Given the description of an element on the screen output the (x, y) to click on. 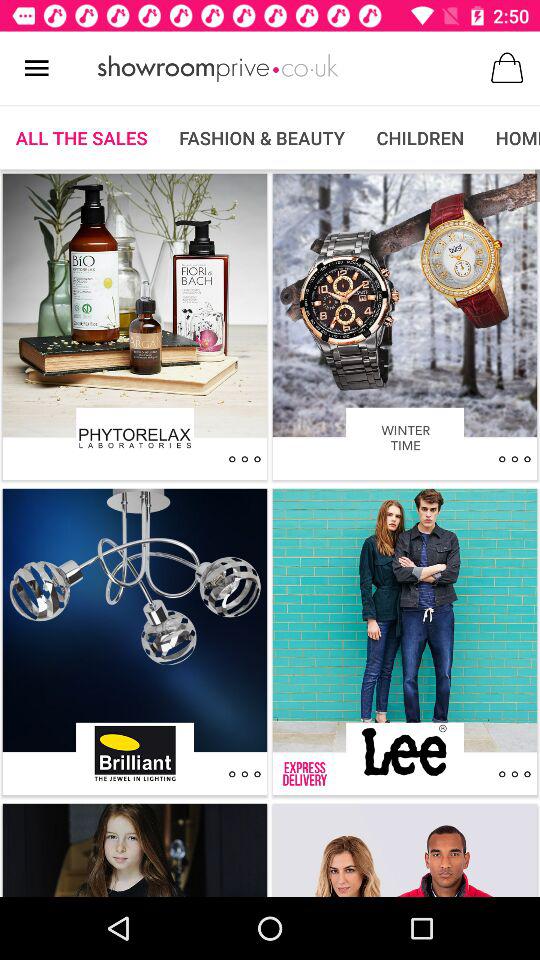
more options (244, 459)
